Given the description of an element on the screen output the (x, y) to click on. 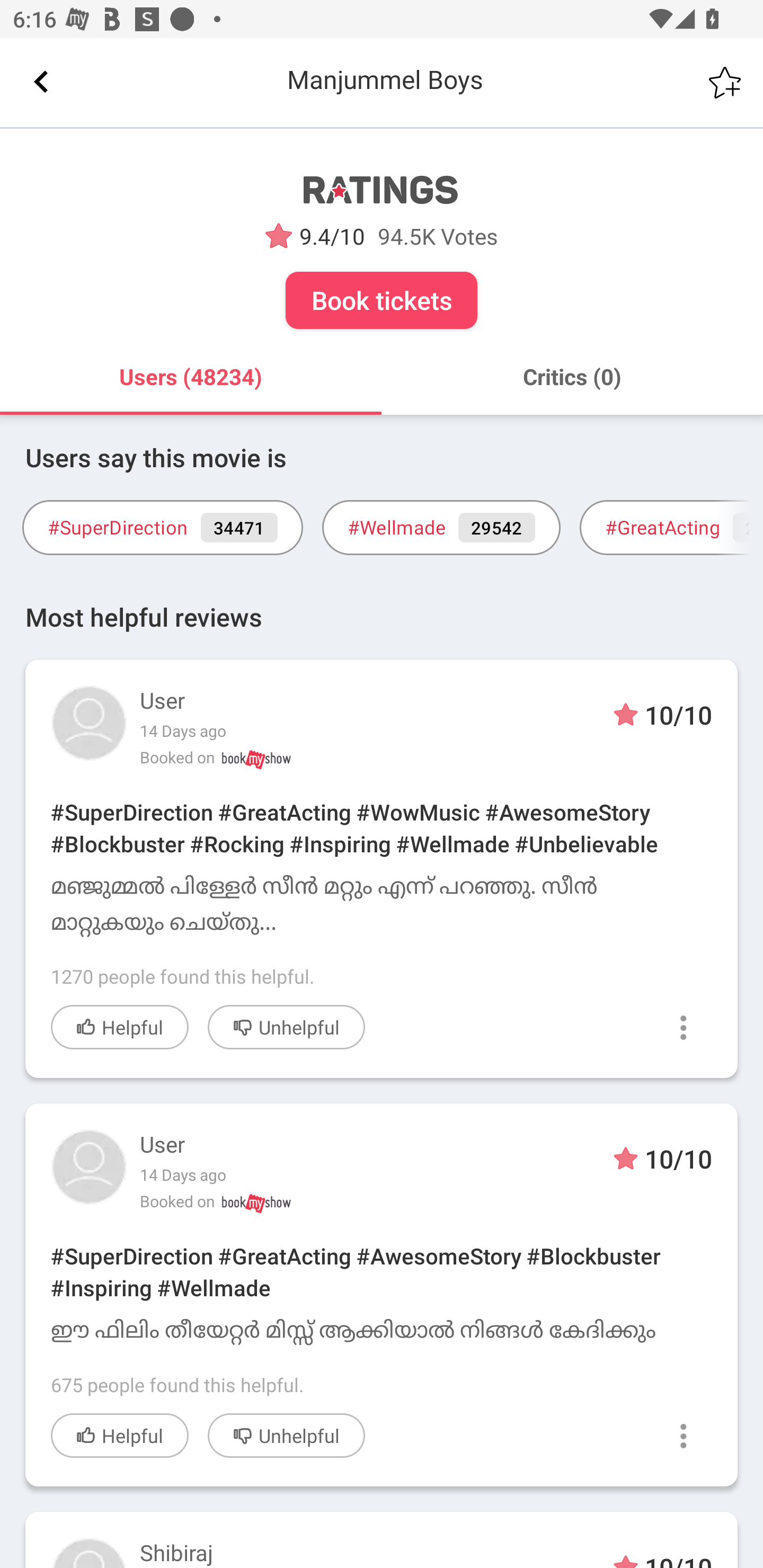
Back (41, 82)
Book tickets (381, 299)
Critics (0) (572, 376)
#SuperDirection 34471 (162, 527)
#Wellmade 29542 (440, 527)
#GreatActing 27265 (671, 527)
Helpful (119, 1026)
Unhelpful (285, 1026)
Helpful (119, 1435)
Unhelpful (285, 1435)
